Given the description of an element on the screen output the (x, y) to click on. 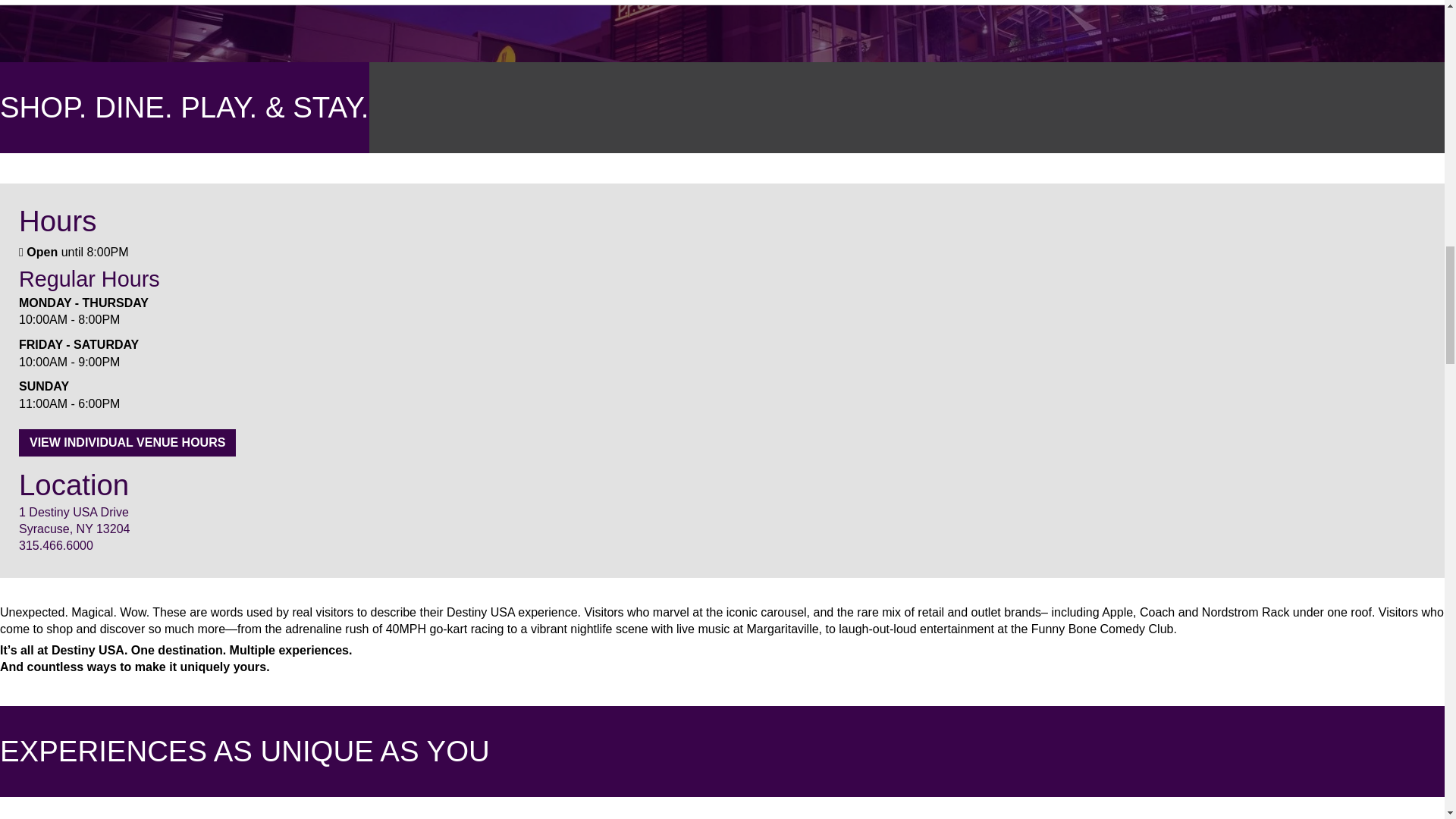
VIEW INDIVIDUAL VENUE HOURS (126, 442)
315.466.6000 (133, 545)
